Given the description of an element on the screen output the (x, y) to click on. 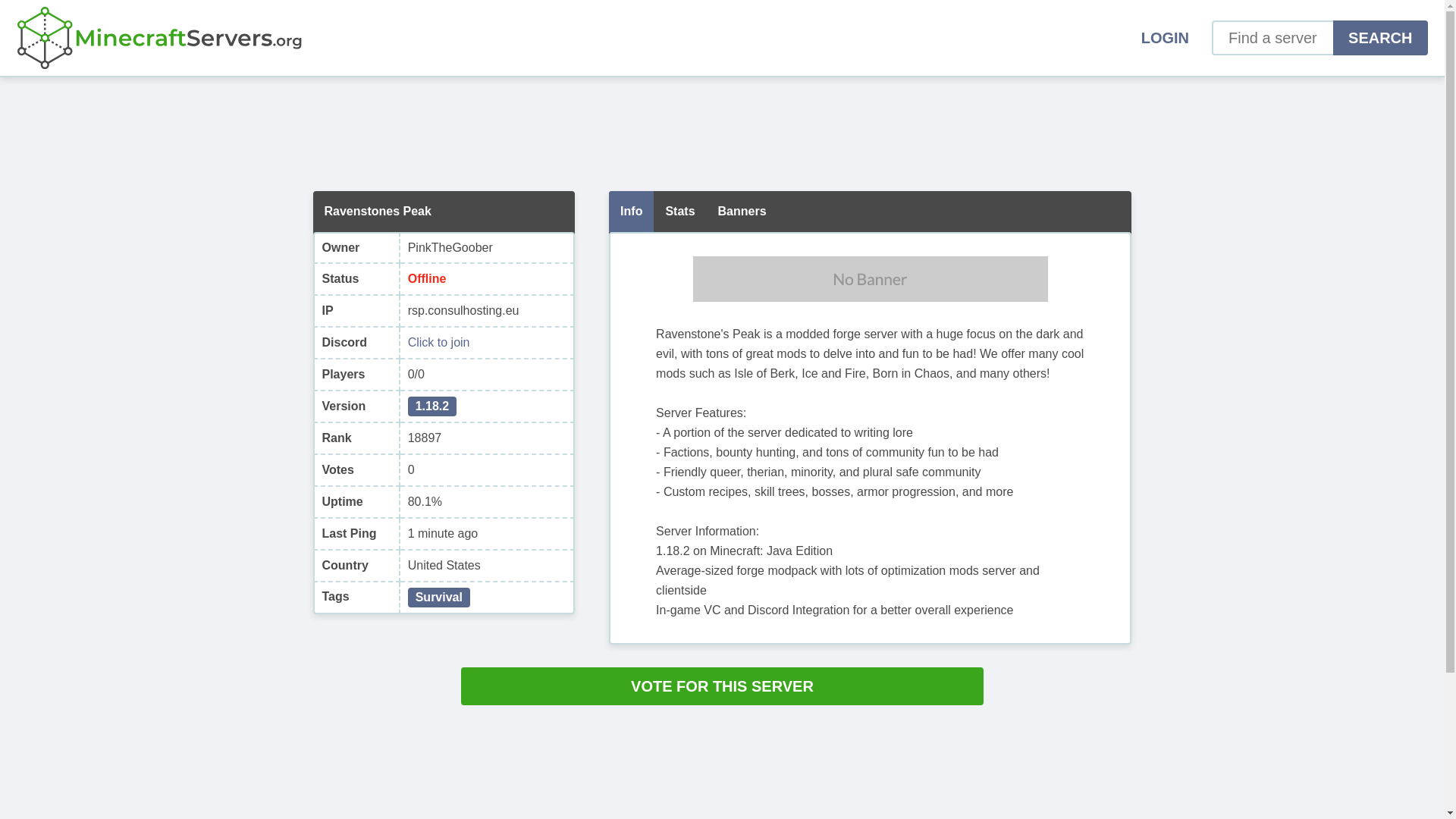
LOGIN (1164, 38)
Search (1379, 37)
Survival (438, 597)
1.18.2 (432, 406)
Search (1379, 37)
Click to join (438, 342)
VOTE FOR THIS SERVER (722, 686)
